Given the description of an element on the screen output the (x, y) to click on. 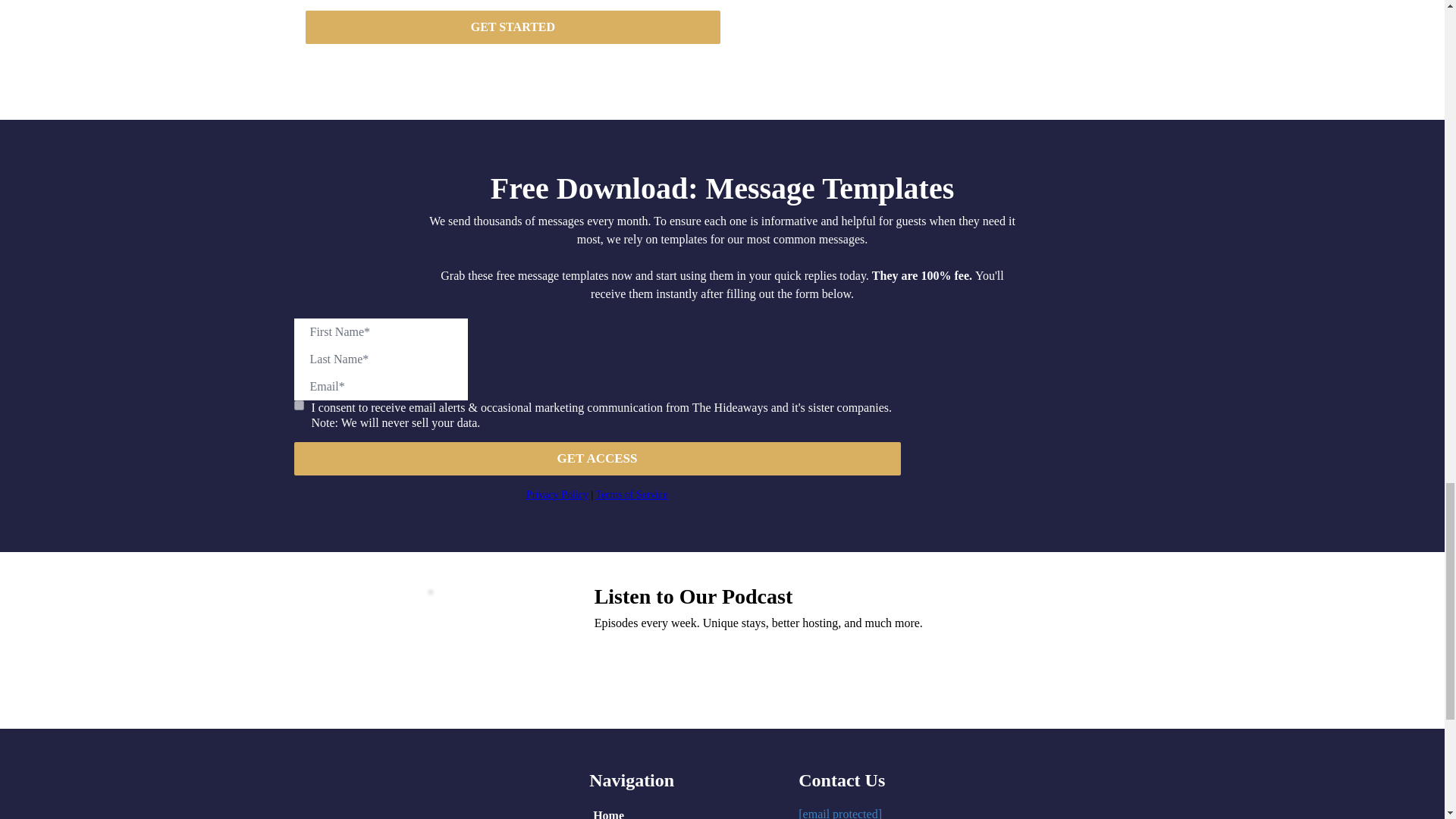
Terms of Service (631, 494)
GET ACCESS (597, 458)
Home (616, 812)
GET STARTED (512, 27)
Privacy Policy (556, 494)
